Given the description of an element on the screen output the (x, y) to click on. 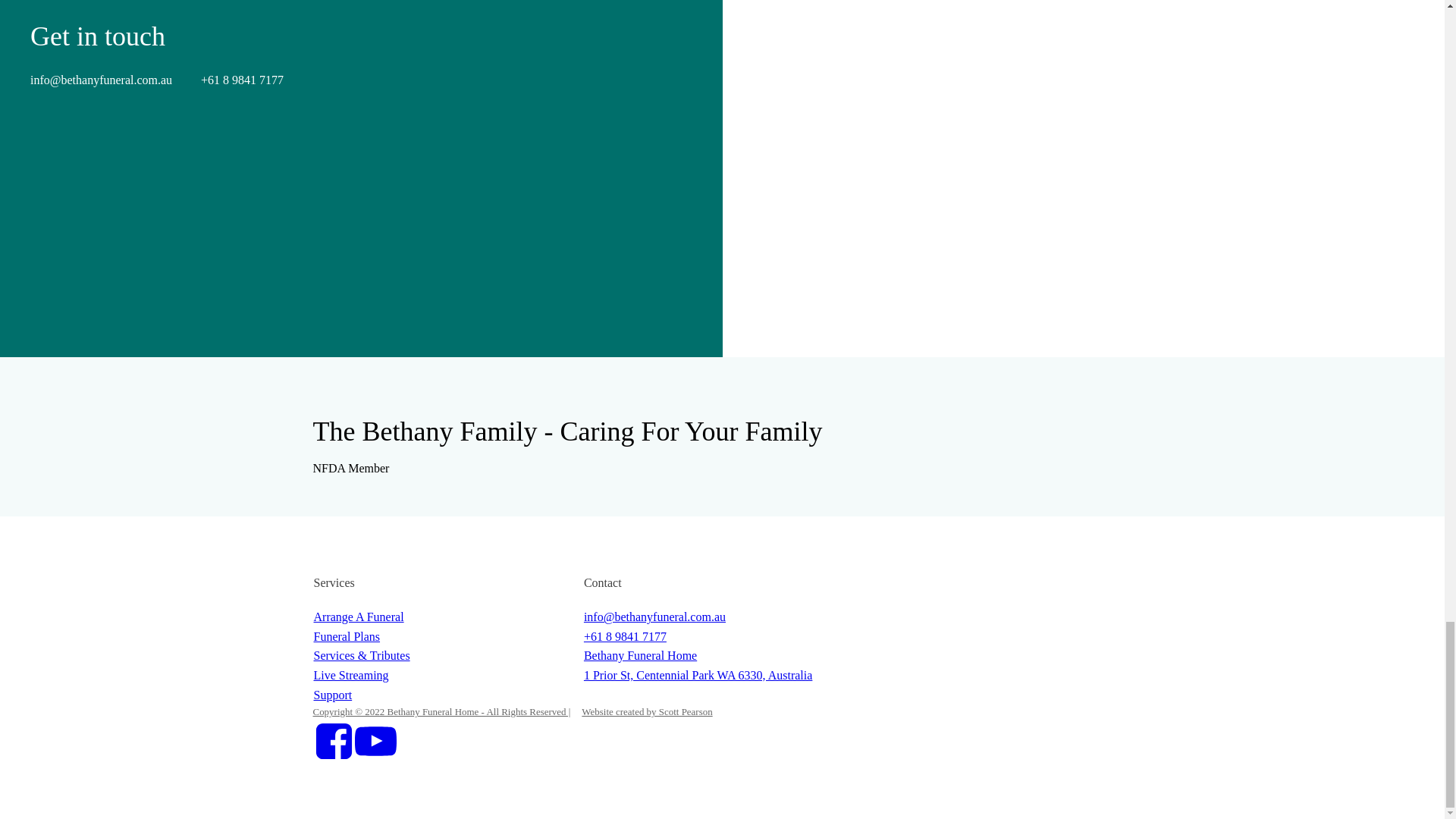
Live Streaming (351, 675)
Support (333, 695)
Arrange A Funeral (359, 617)
Funeral Plans (347, 637)
